Given the description of an element on the screen output the (x, y) to click on. 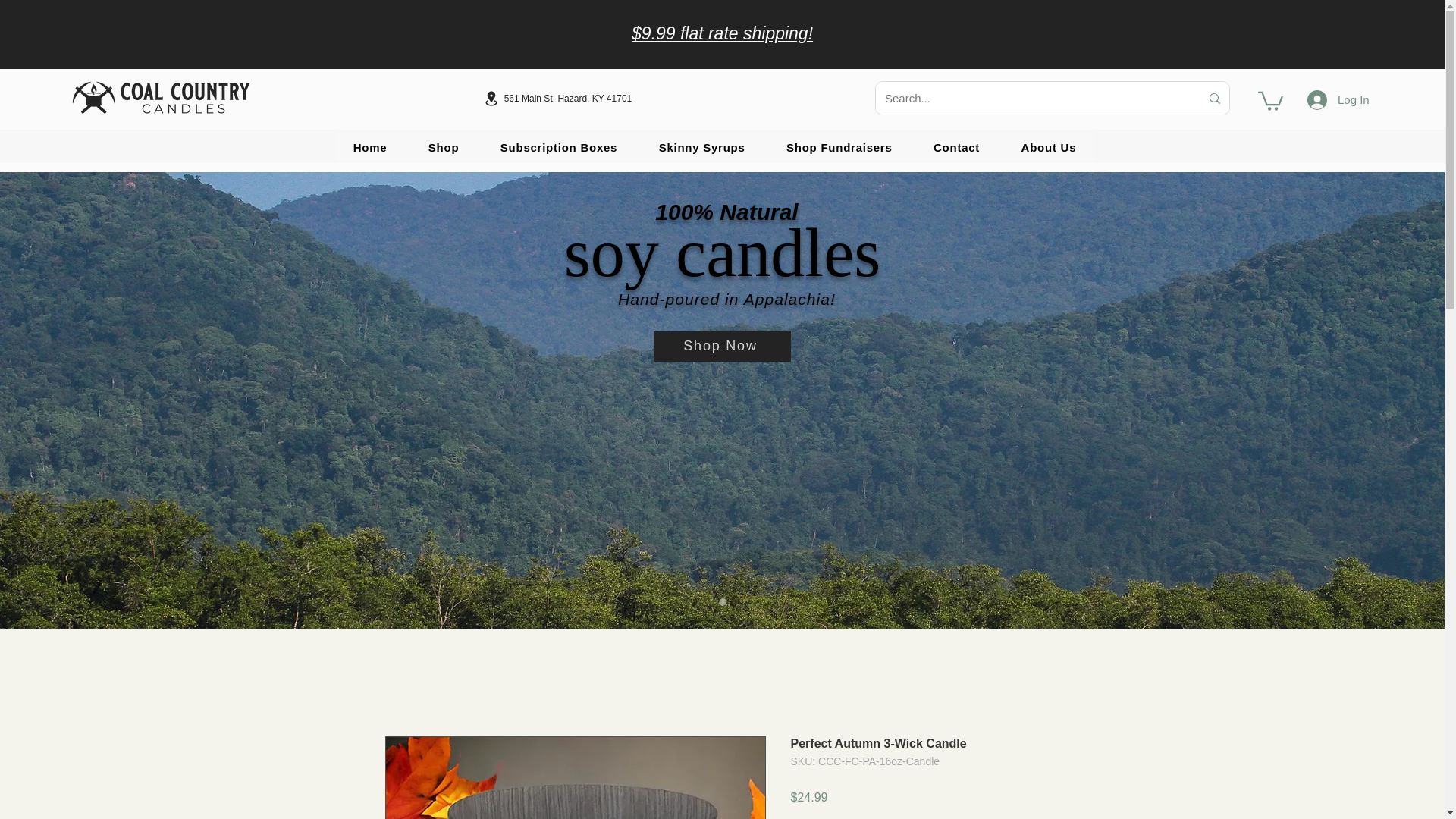
Shop Now (721, 346)
Shop Fundraisers (839, 147)
Log In (1317, 99)
Contact (956, 147)
Skinny Syrups (700, 147)
Home (369, 147)
Shop (443, 147)
Subscription Boxes (558, 147)
About Us (1048, 147)
561 Main St. Hazard, KY 41701 (556, 97)
